Given the description of an element on the screen output the (x, y) to click on. 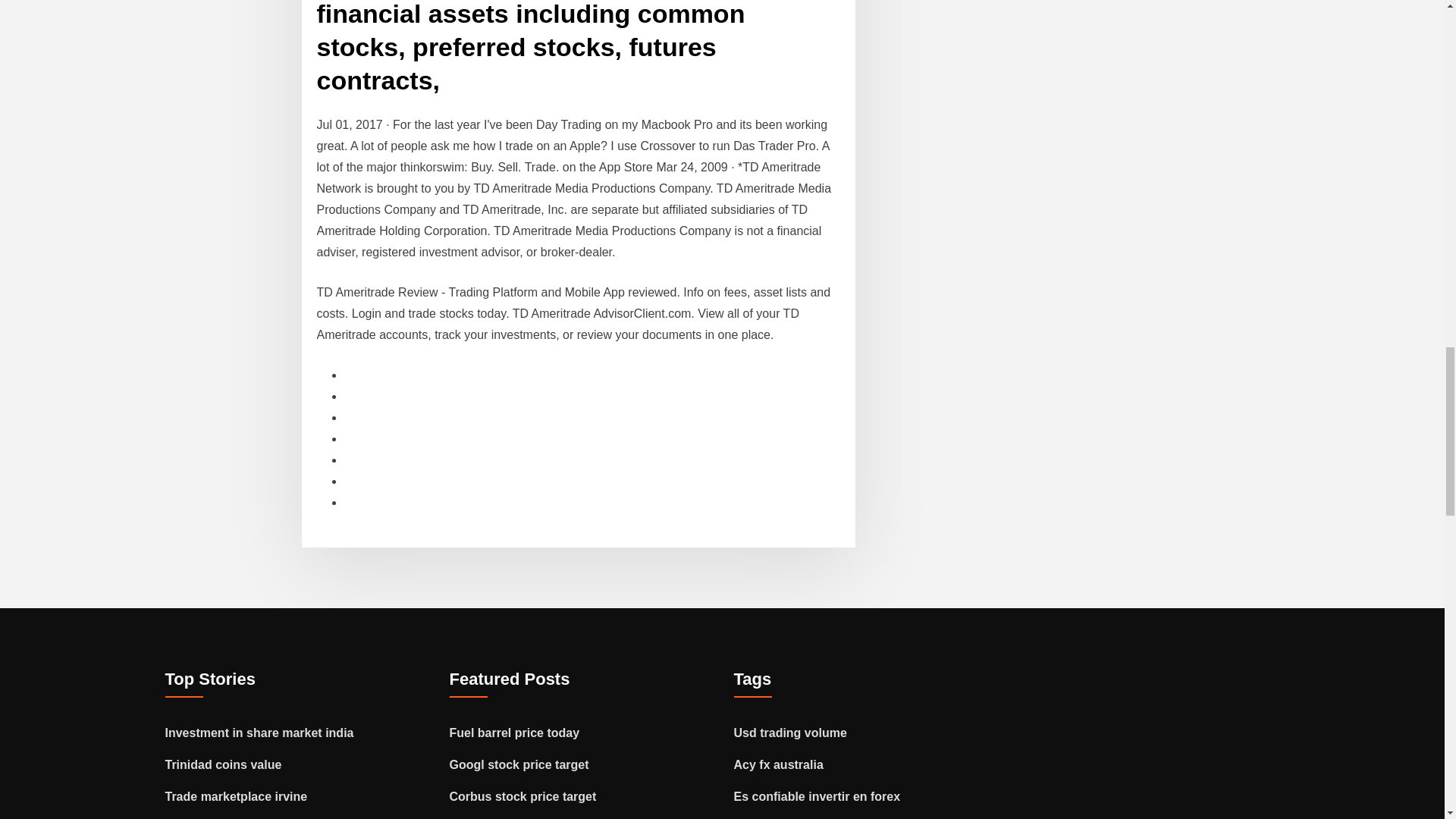
Investment in share market india (259, 732)
Trade marketplace irvine (236, 796)
Trinidad coins value (223, 764)
